Given the description of an element on the screen output the (x, y) to click on. 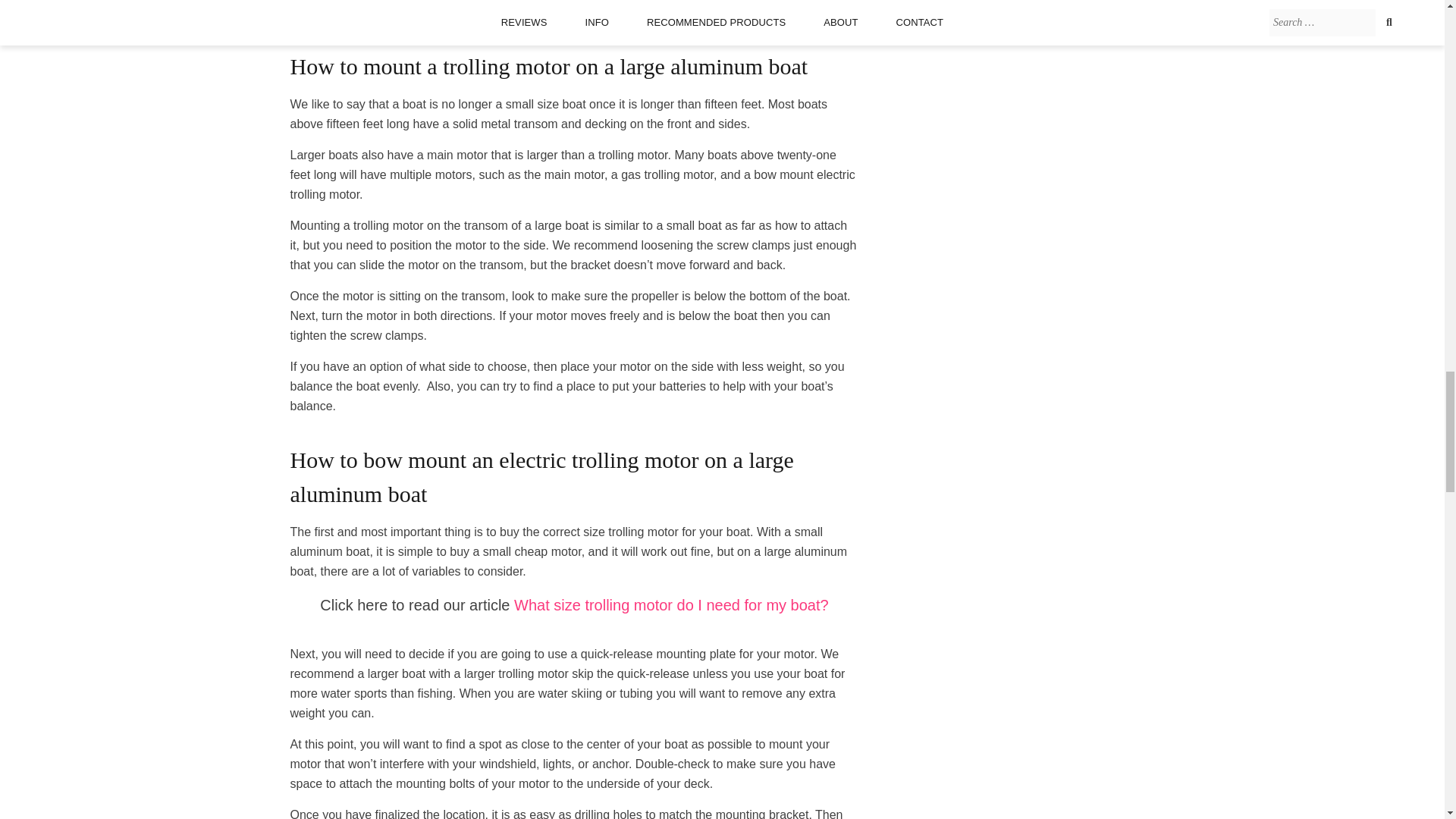
Trolling Motor Battery Cable Extension Kit (468, 6)
What size trolling motor do I need for my boat? (670, 605)
